Given the description of an element on the screen output the (x, y) to click on. 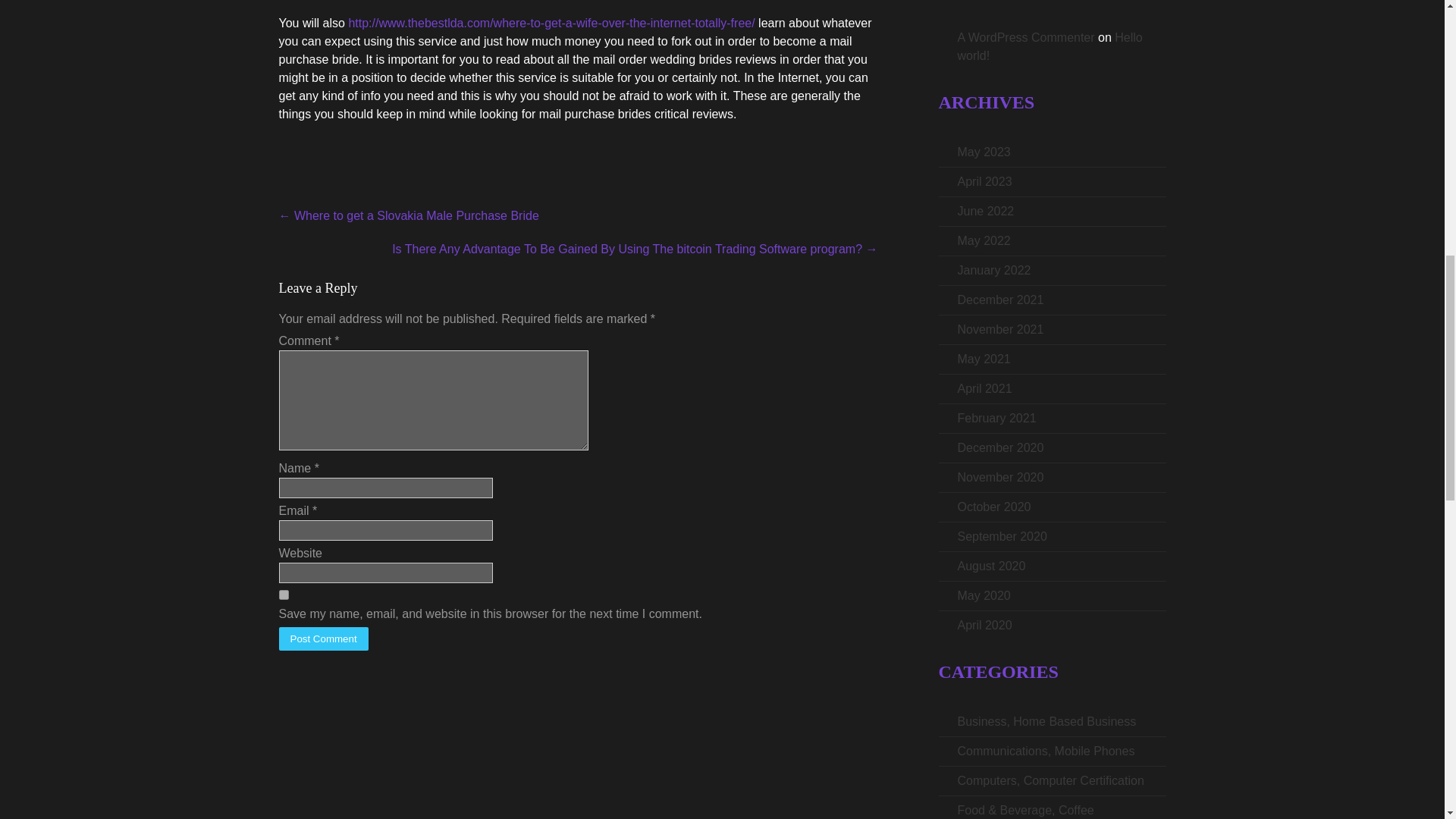
yes (283, 594)
Post Comment (323, 638)
A WordPress Commenter (1025, 37)
Hello world! (1048, 46)
Post Comment (323, 638)
April 2023 (983, 181)
December 2021 (999, 299)
January 2022 (993, 269)
June 2022 (984, 210)
May 2023 (983, 151)
